Given the description of an element on the screen output the (x, y) to click on. 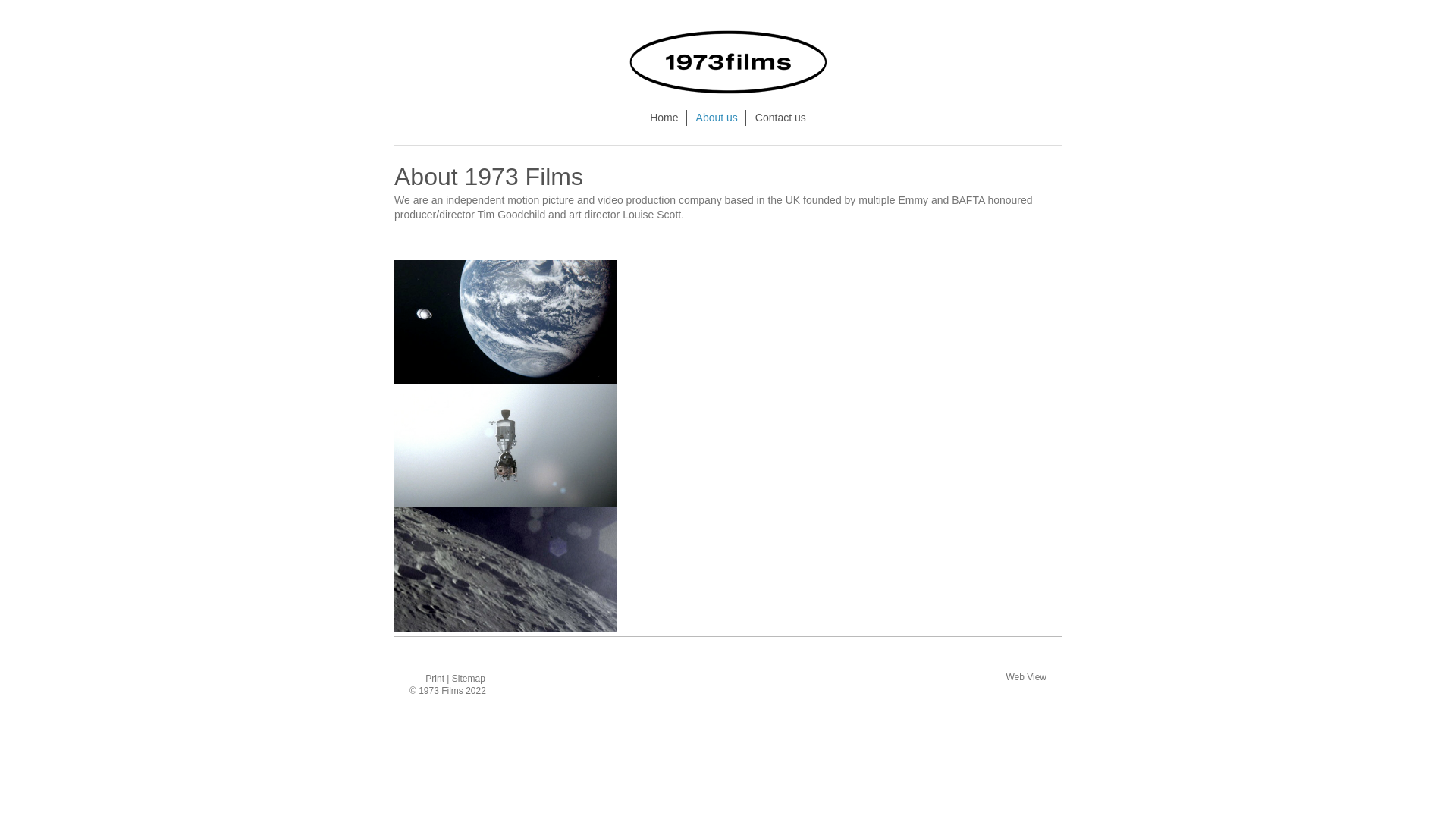
Sitemap Element type: text (468, 678)
Print Element type: text (427, 678)
Web View Element type: text (1025, 676)
Contact us Element type: text (780, 117)
About us Element type: text (717, 117)
Home Element type: text (664, 117)
